Given the description of an element on the screen output the (x, y) to click on. 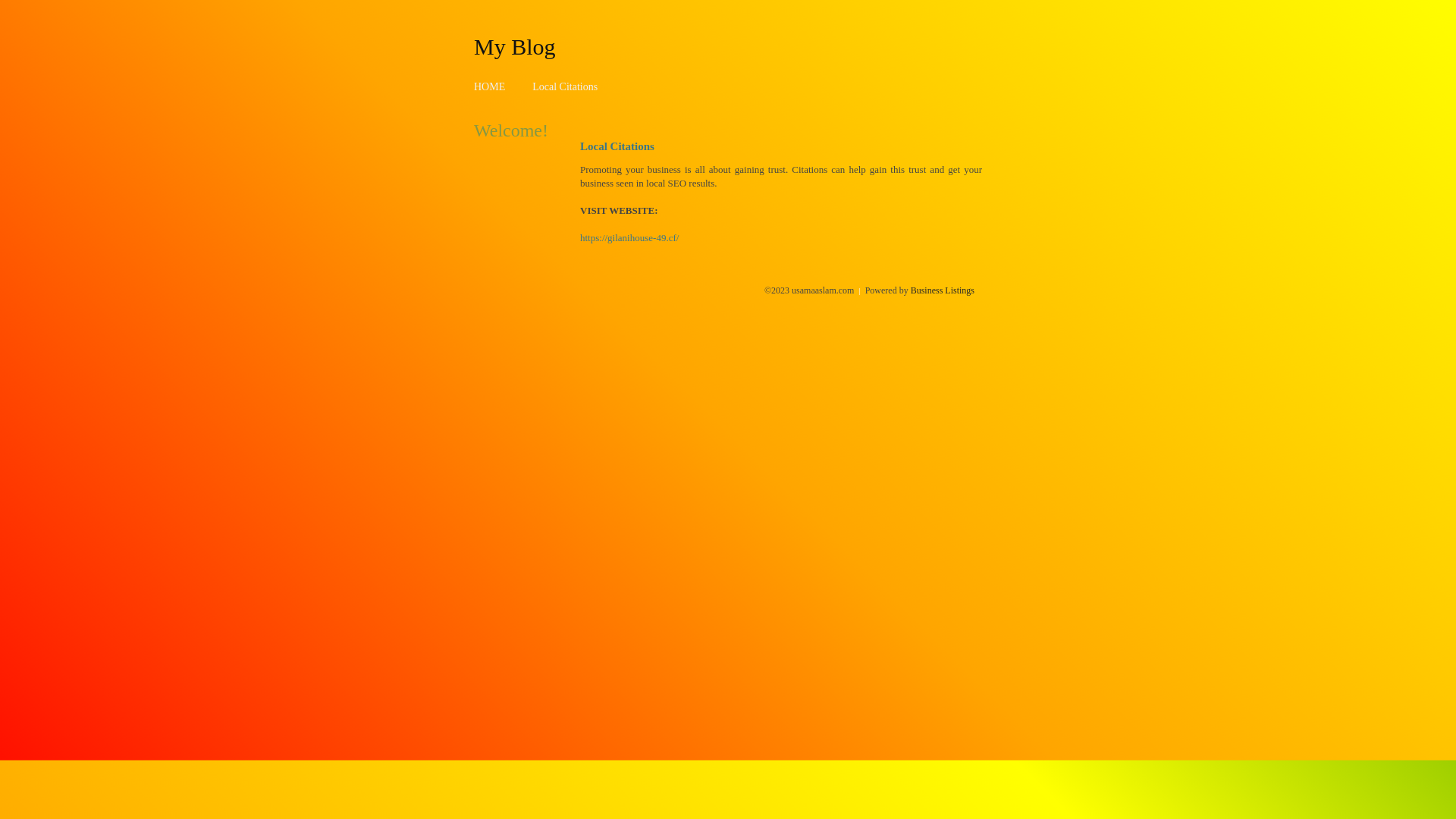
HOME Element type: text (489, 86)
Local Citations Element type: text (564, 86)
https://gilanihouse-49.cf/ Element type: text (629, 237)
My Blog Element type: text (514, 46)
Business Listings Element type: text (942, 290)
